Given the description of an element on the screen output the (x, y) to click on. 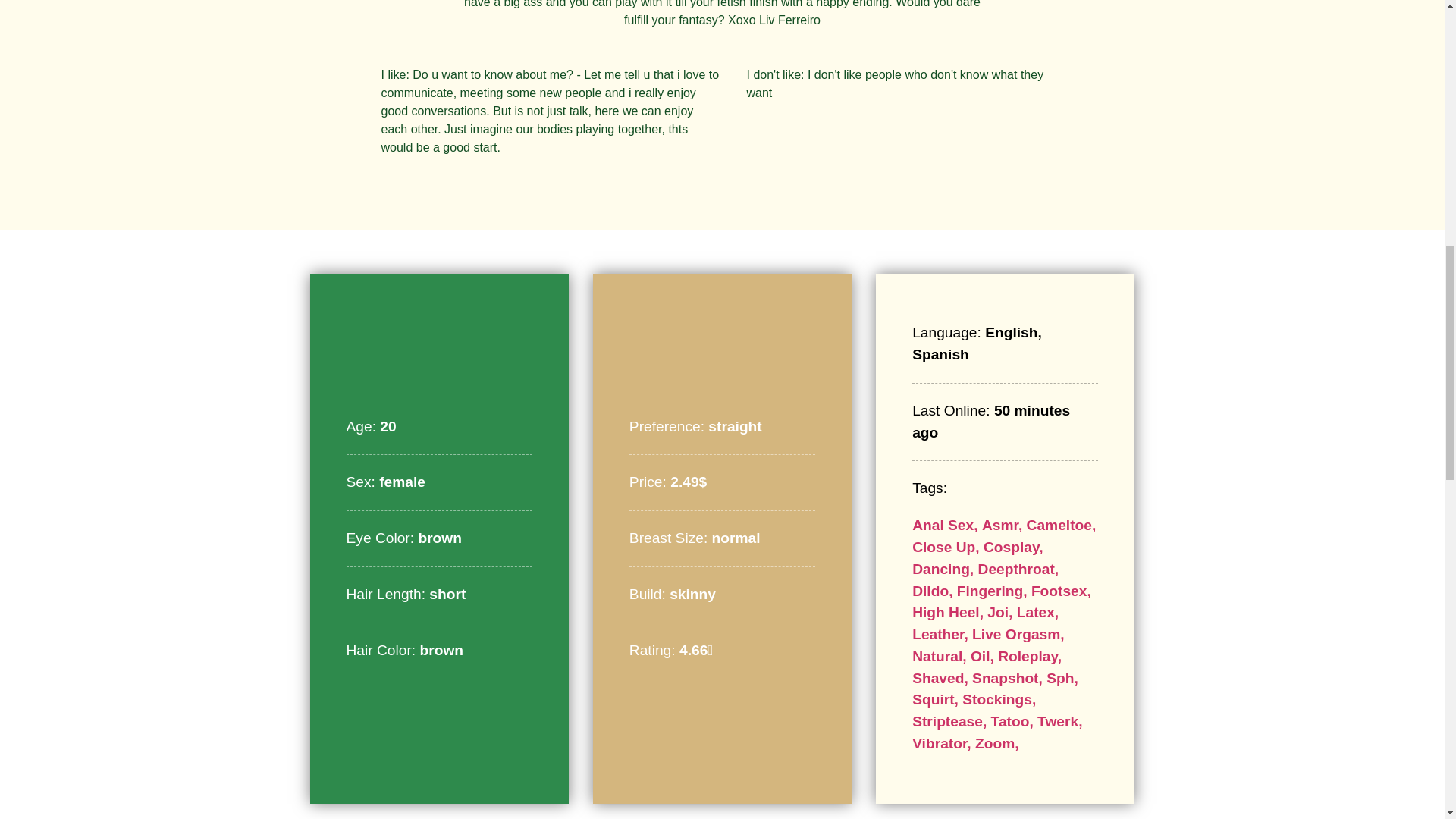
Anal Sex (946, 524)
Cameltoe (1061, 524)
Asmr (1003, 524)
